Given the description of an element on the screen output the (x, y) to click on. 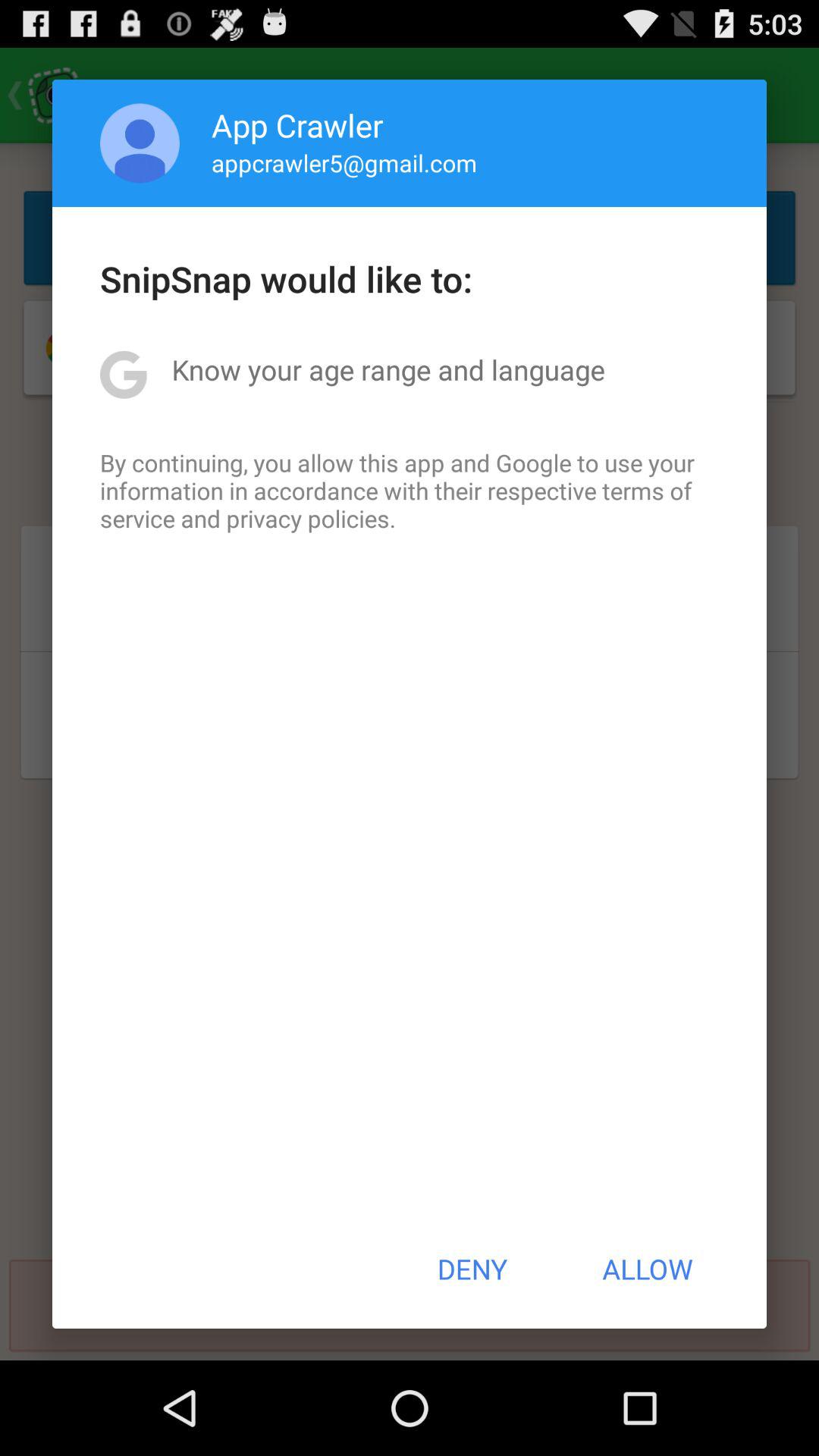
turn off the app above snipsnap would like app (344, 162)
